Given the description of an element on the screen output the (x, y) to click on. 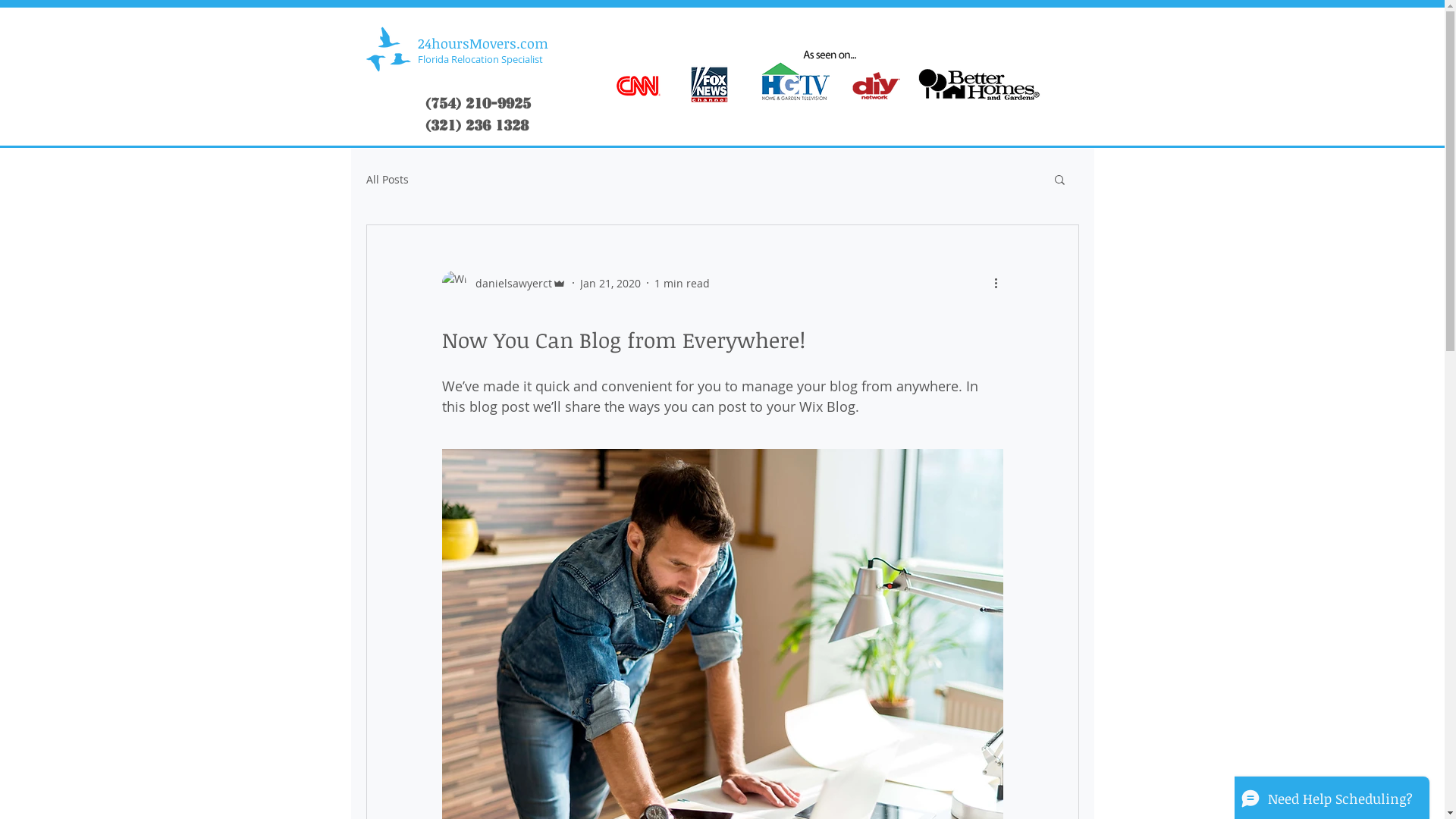
danielsawyerct Element type: text (503, 282)
All Posts Element type: text (386, 178)
